Given the description of an element on the screen output the (x, y) to click on. 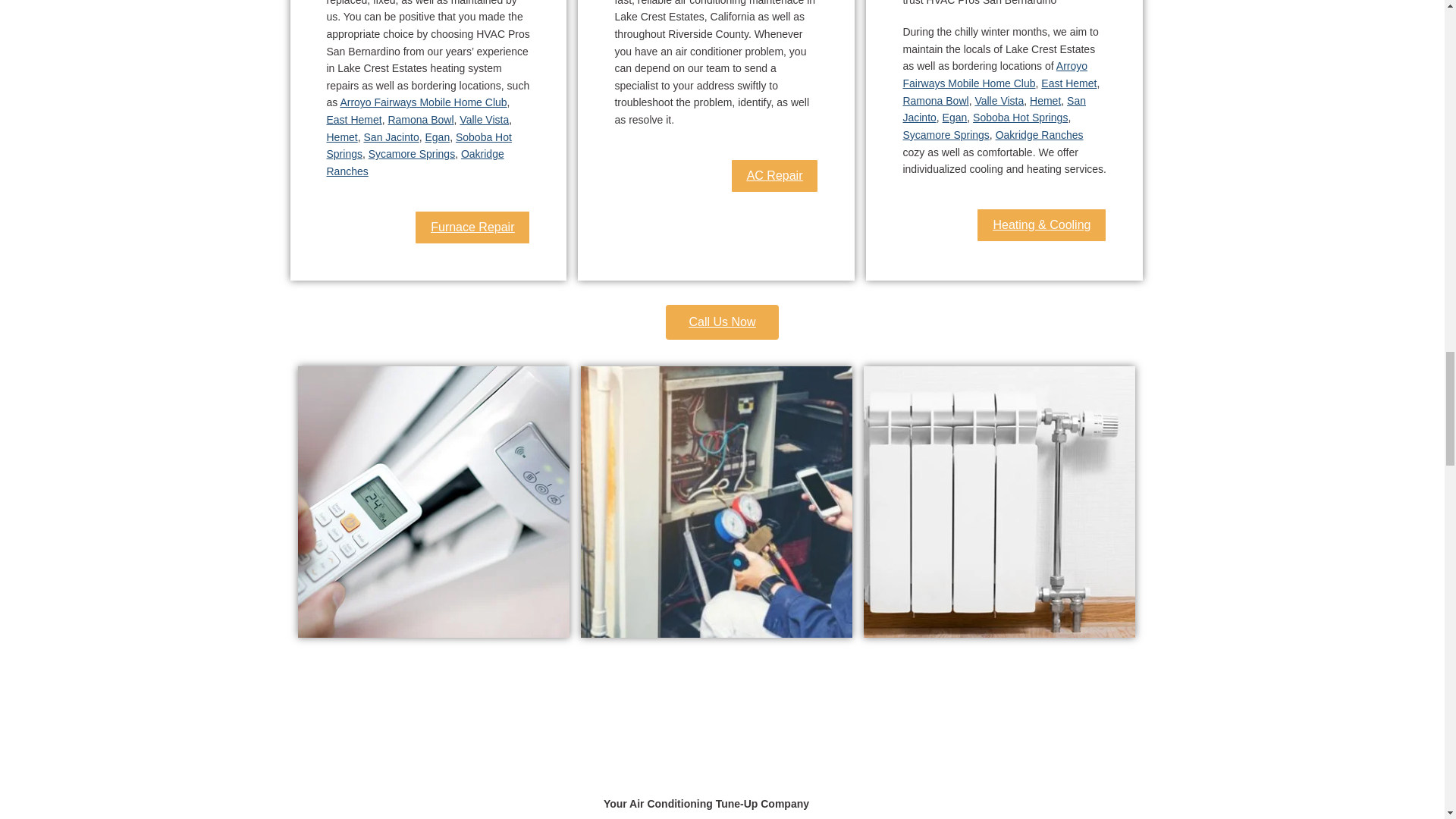
heating and air san bernardino 38 (715, 502)
Arroyo Fairways Mobile Home Club (994, 74)
Sycamore Springs (411, 153)
East Hemet (1068, 82)
Hemet (341, 137)
Sycamore Springs (945, 134)
Soboba Hot Springs (418, 145)
Oakridge Ranches (414, 162)
Valle Vista (484, 119)
Hemet (1045, 101)
Furnace Repair (471, 227)
Ramona Bowl (935, 101)
Egan (955, 117)
East Hemet (353, 119)
San Jacinto (391, 137)
